Given the description of an element on the screen output the (x, y) to click on. 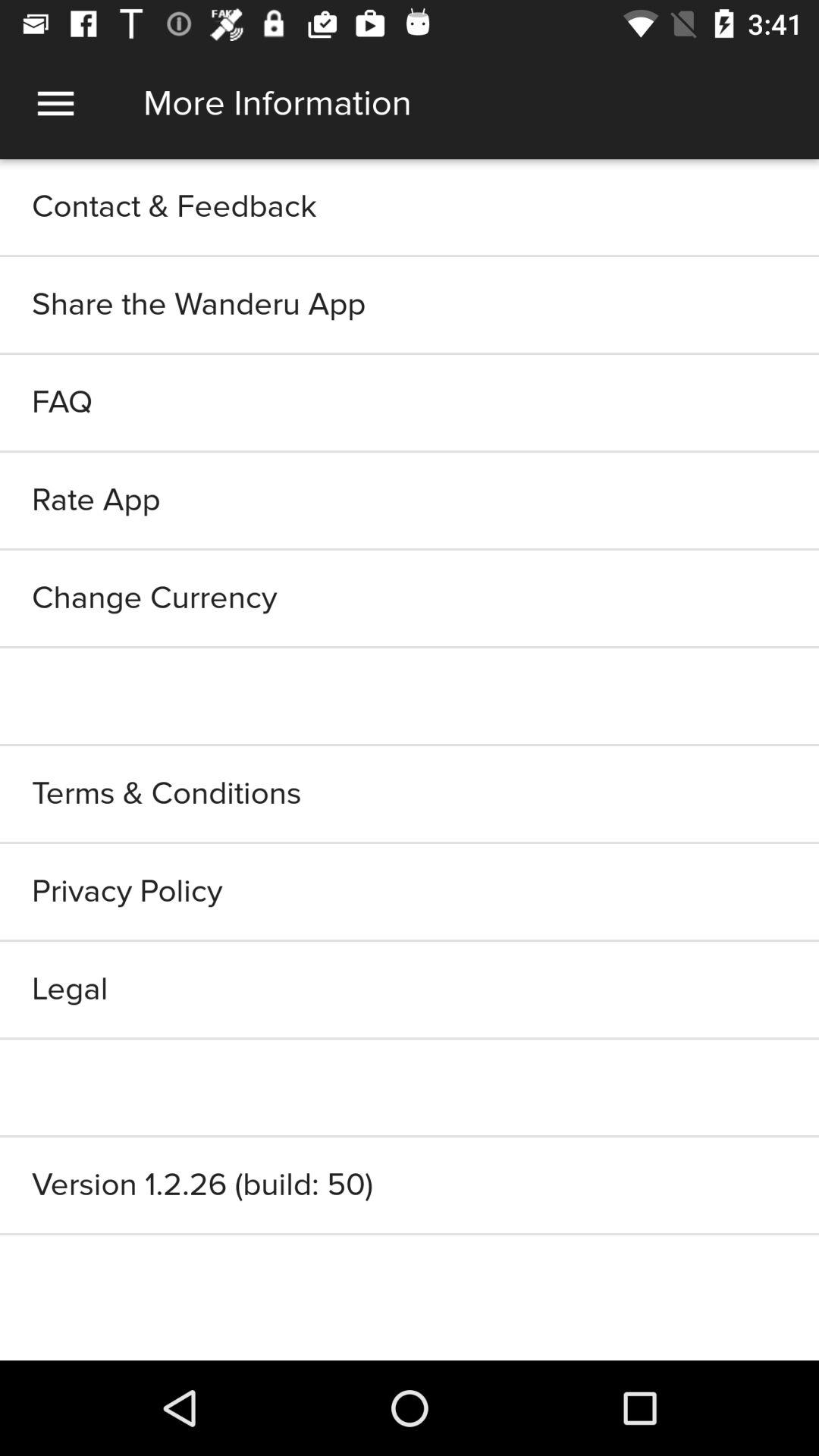
click the item to the left of the more information item (55, 103)
